Given the description of an element on the screen output the (x, y) to click on. 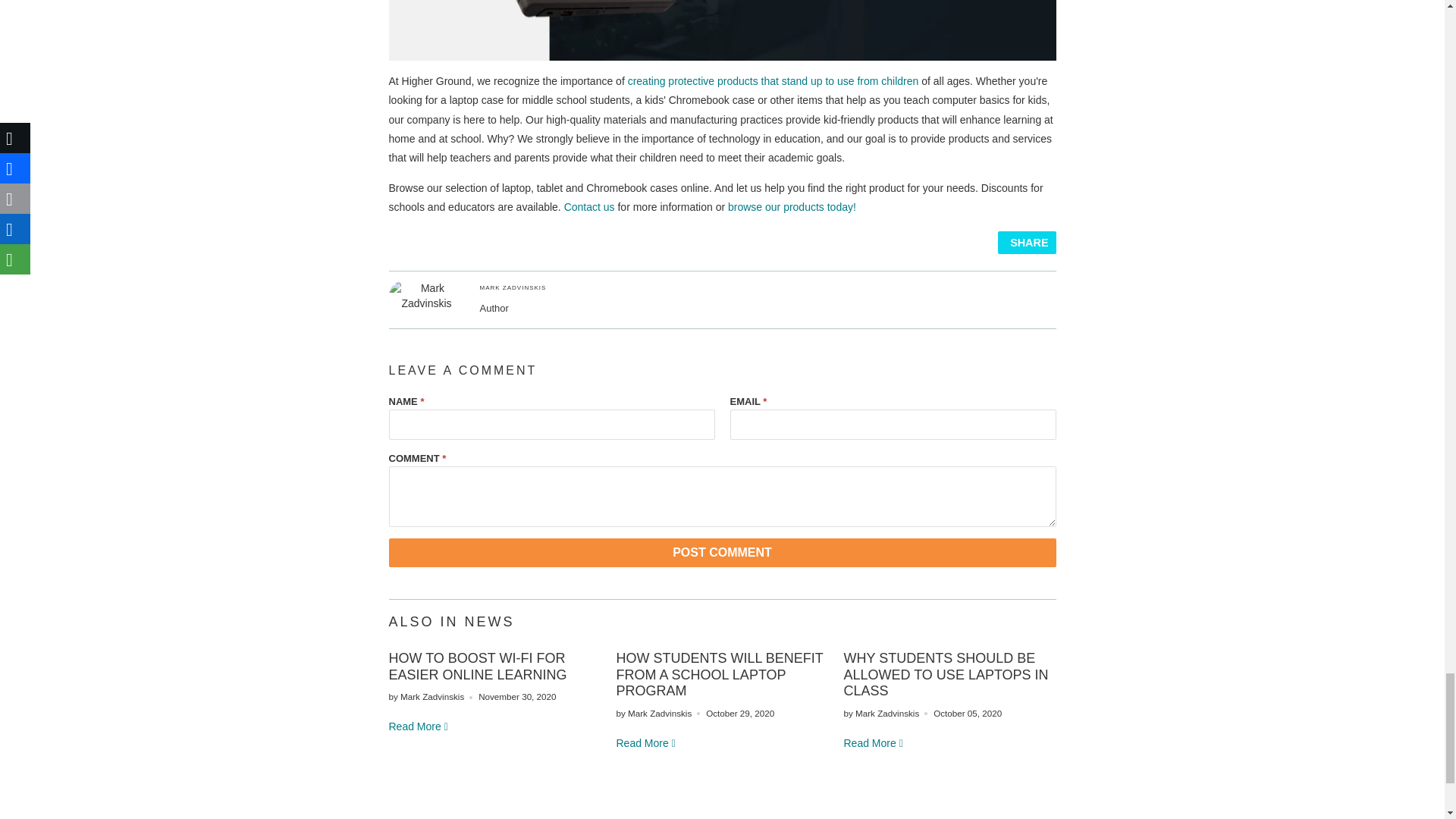
What's the Right Age to Introduce Your Kid to Computers? (418, 726)
Why Students Should Be Allowed to Use Laptops in Class (945, 674)
What's the Right Age to Introduce Your Kid to Computers? (873, 743)
How Students Will Benefit From a School Laptop Program (718, 674)
Post comment (721, 552)
How to Boost Wi-Fi for Easier Online Learning (477, 666)
What's the Right Age to Introduce Your Kid to Computers? (646, 743)
